Given the description of an element on the screen output the (x, y) to click on. 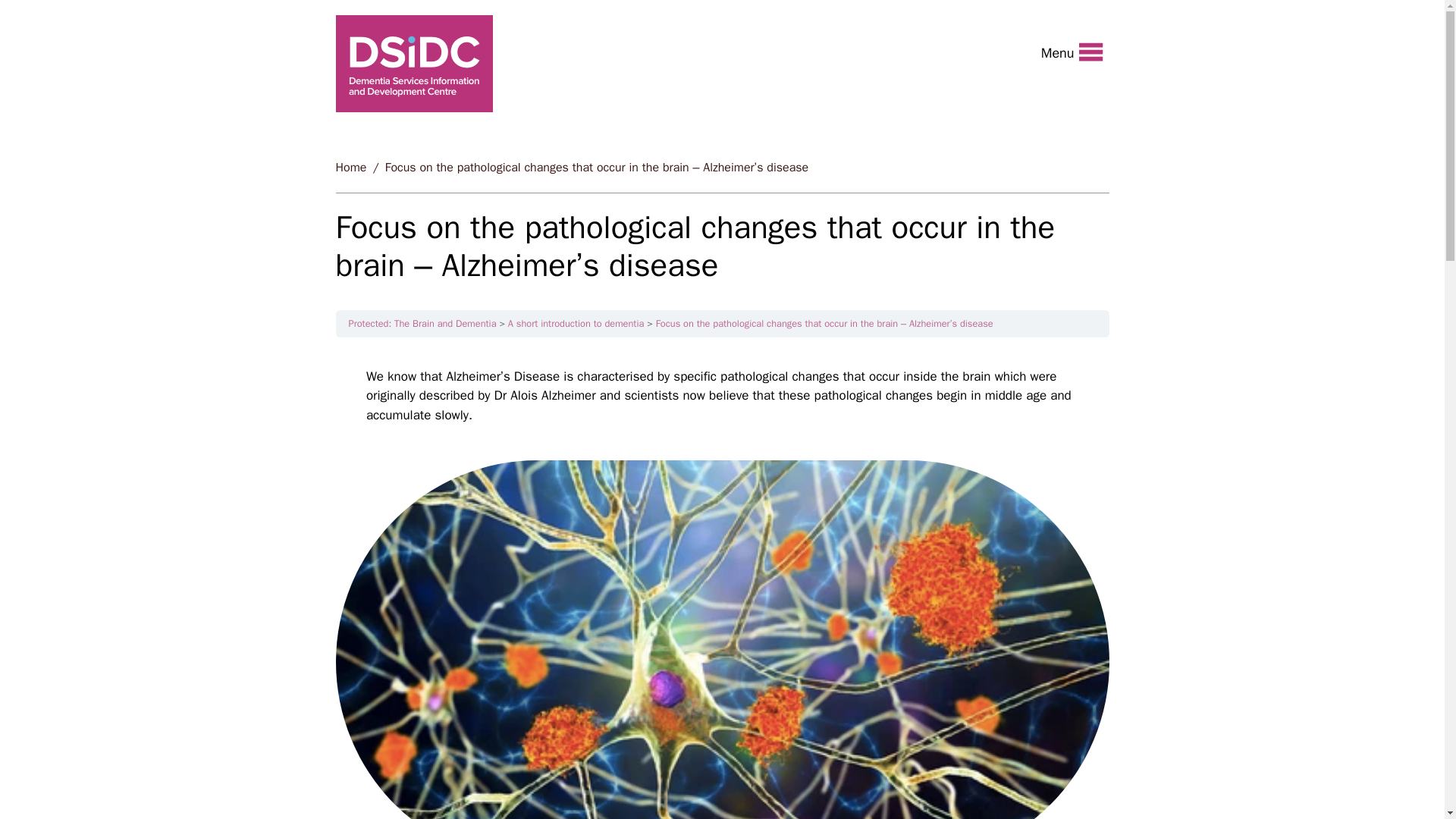
Menu (1071, 52)
